Given the description of an element on the screen output the (x, y) to click on. 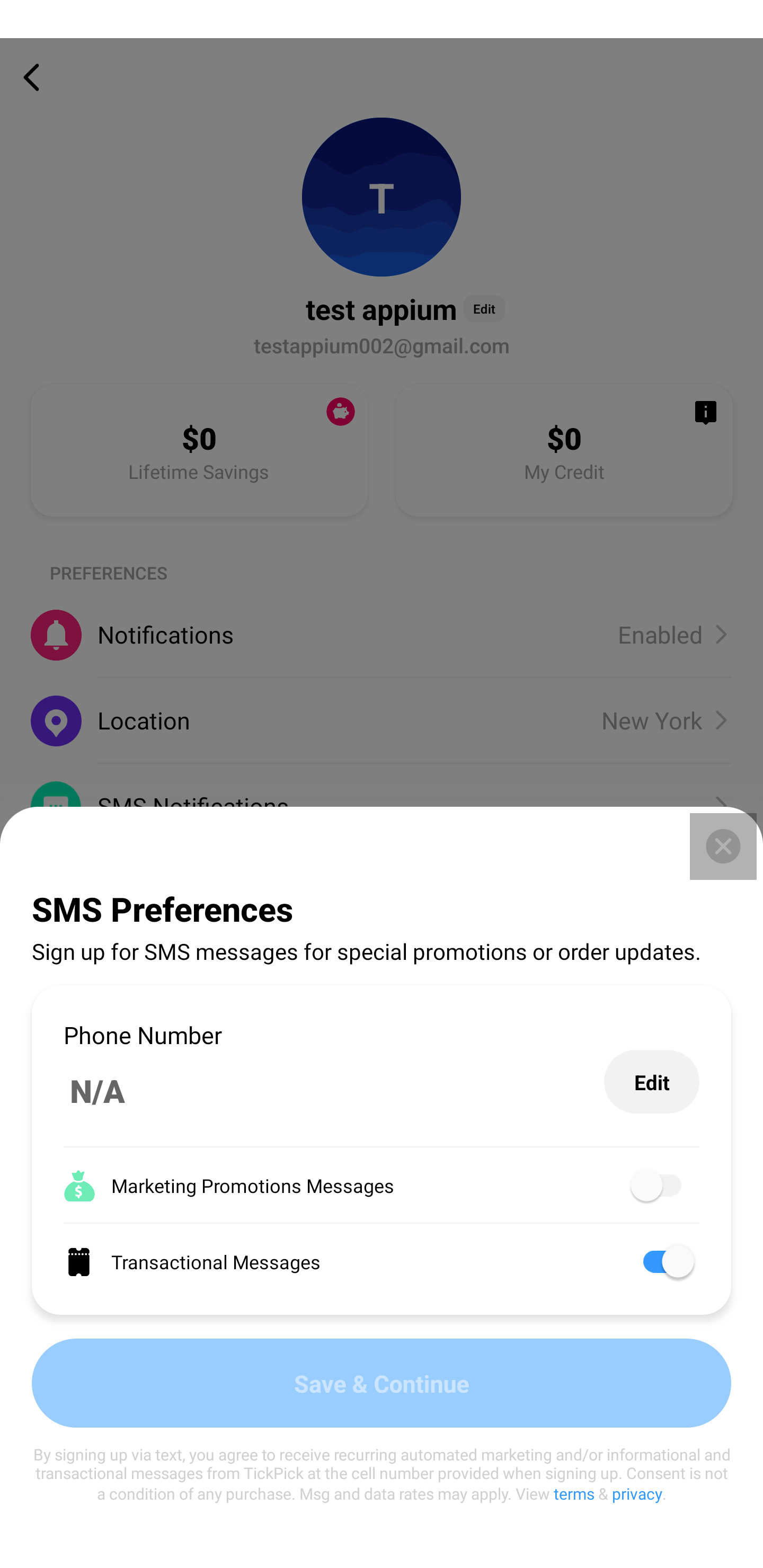
Edit (651, 1081)
N/A (333, 1091)
Save & Continue (381, 1382)
